Given the description of an element on the screen output the (x, y) to click on. 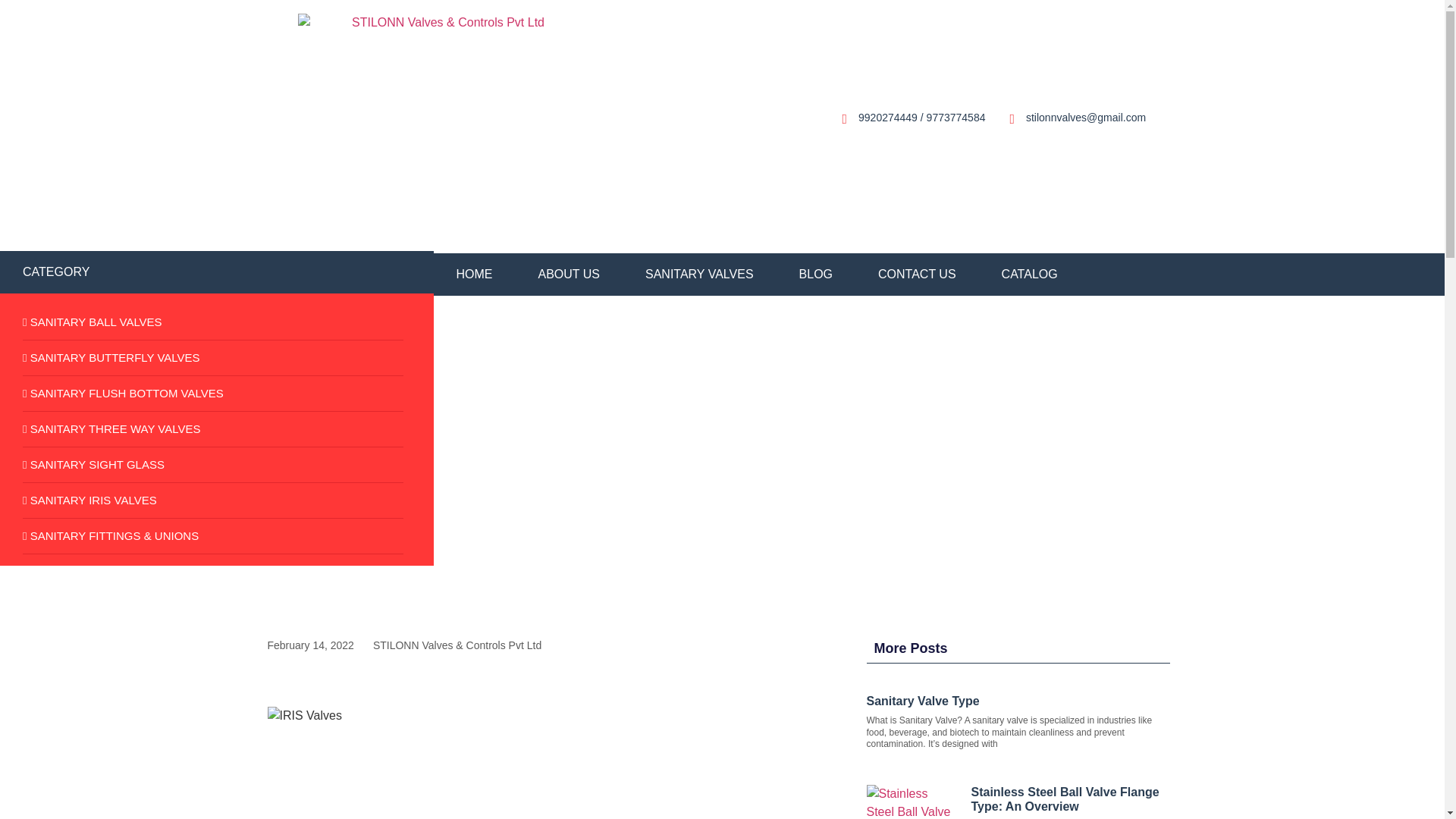
SANITARY BUTTERFLY VALVES (213, 357)
9920274449 (888, 117)
9773774584 (955, 117)
SANITARY FLUSH BOTTOM VALVES (213, 393)
SANITARY BALL VALVES (213, 322)
SANITARY SIGHT GLASS (213, 465)
SANITARY THREE WAY VALVES (213, 429)
CATEGORY (55, 271)
